Given the description of an element on the screen output the (x, y) to click on. 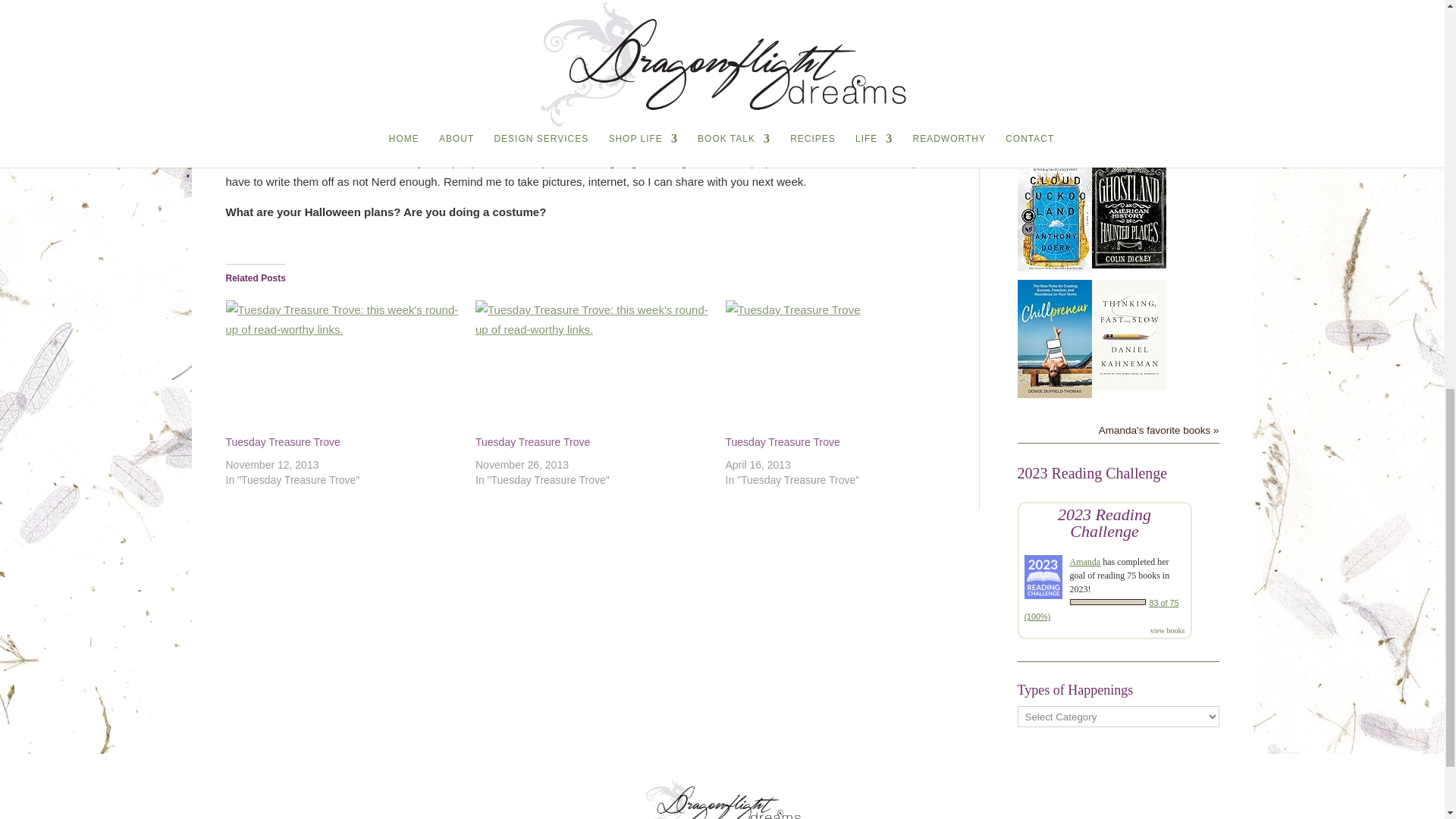
Tuesday Treasure Trove (532, 441)
Tuesday Treasure Trove (842, 367)
Cloud Cuckoo Land (1054, 267)
Tuesday Treasure Trove (782, 441)
Tuesday Treasure Trove (593, 367)
dd-new-logo (722, 796)
Tuesday Treasure Trove (282, 441)
Thinking, Fast and Slow (1129, 385)
Tuesday Treasure Trove (343, 367)
Ghostland: An American History in Haunted Places (1129, 264)
